Given the description of an element on the screen output the (x, y) to click on. 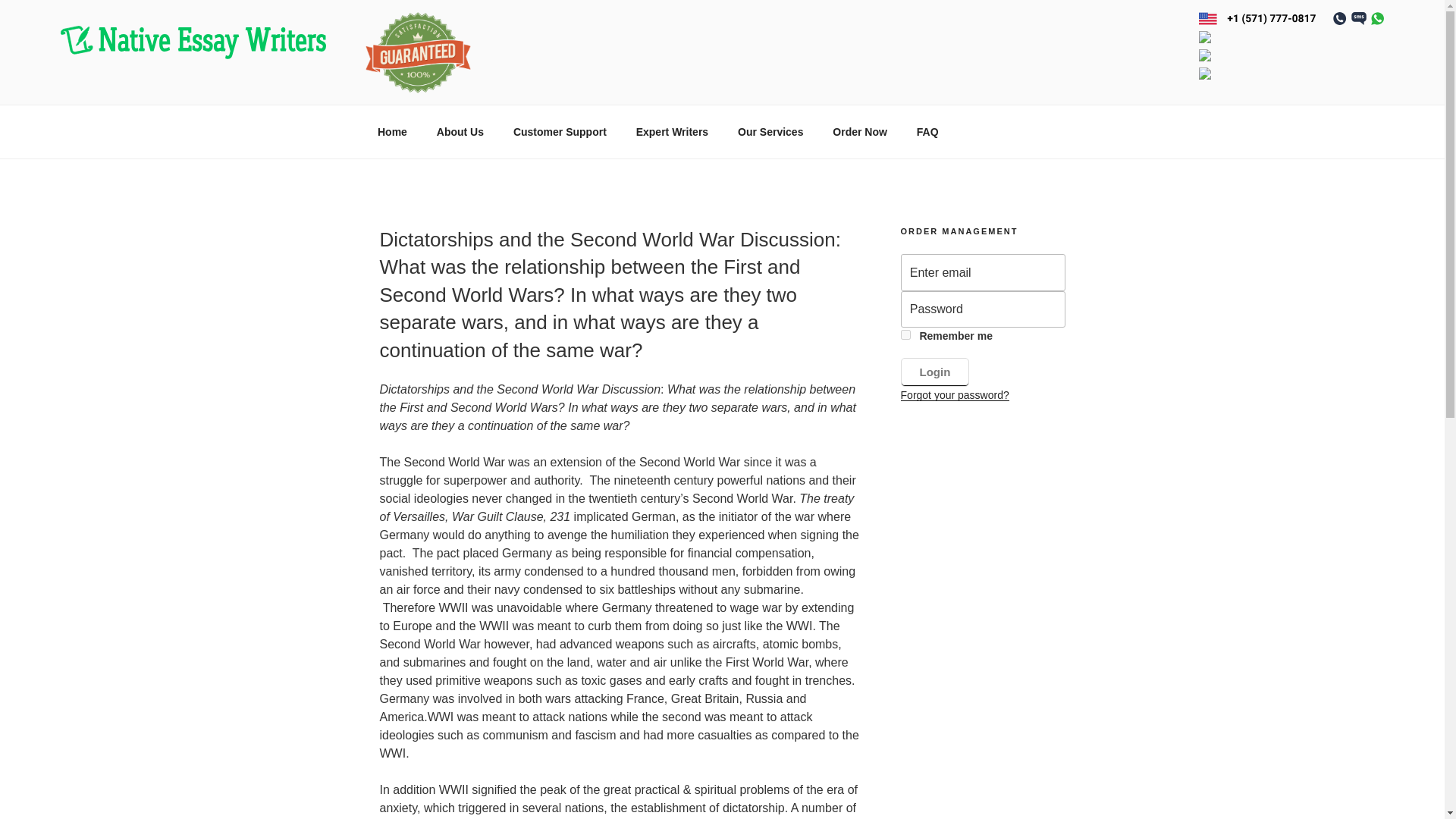
About Us (459, 131)
Order Now (860, 131)
FAQ (927, 131)
Login (935, 371)
Expert Writers (671, 131)
Recover password (955, 395)
Home (392, 131)
Customer Support (559, 131)
Our Services (770, 131)
Forgot your password? (955, 395)
